Given the description of an element on the screen output the (x, y) to click on. 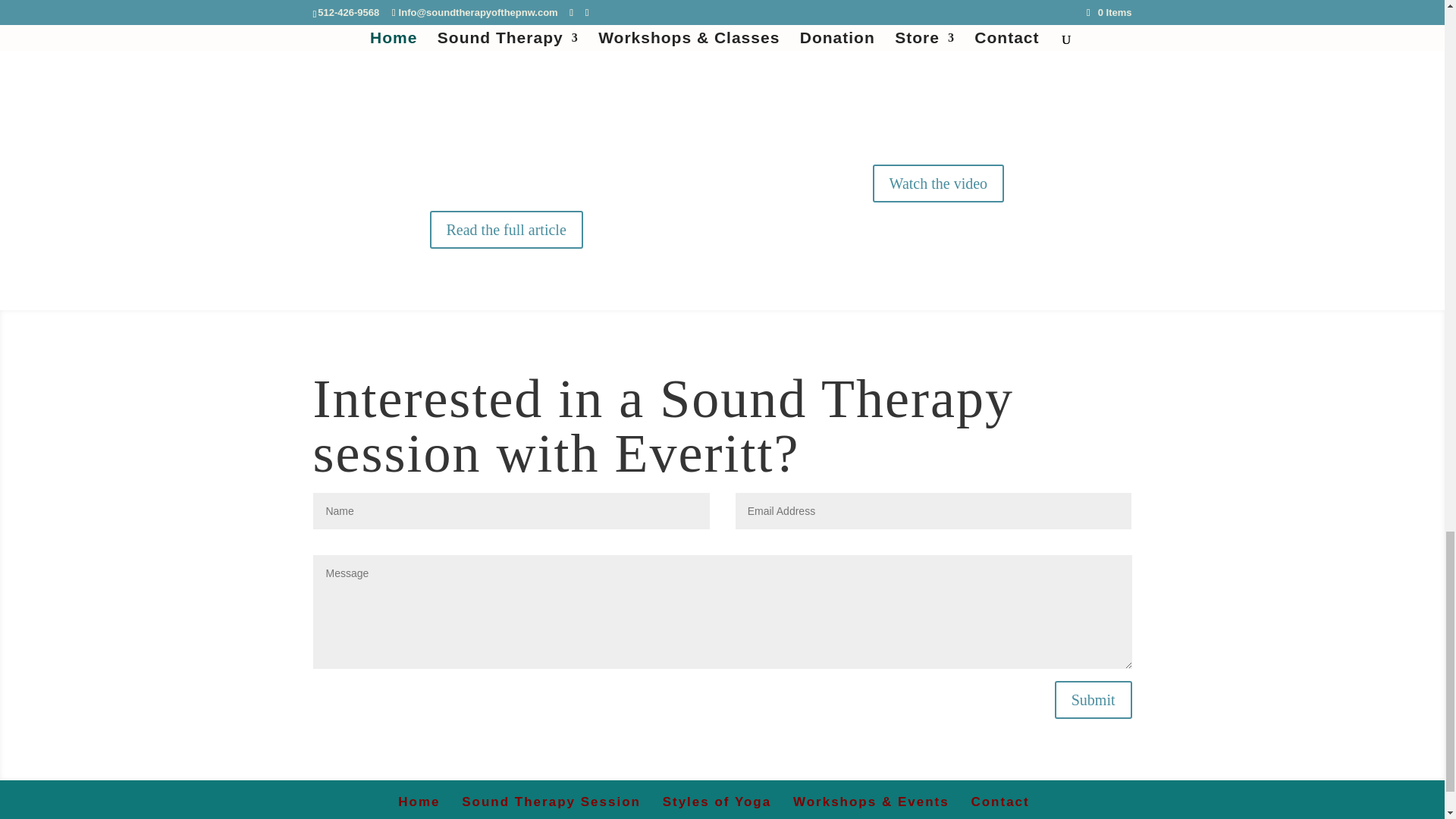
Submit (1093, 699)
Read the full article (506, 229)
Styles of Yoga (716, 801)
Watch the video (938, 183)
Home (418, 801)
Sound Therapy Session (550, 801)
Contact (1000, 801)
